Given the description of an element on the screen output the (x, y) to click on. 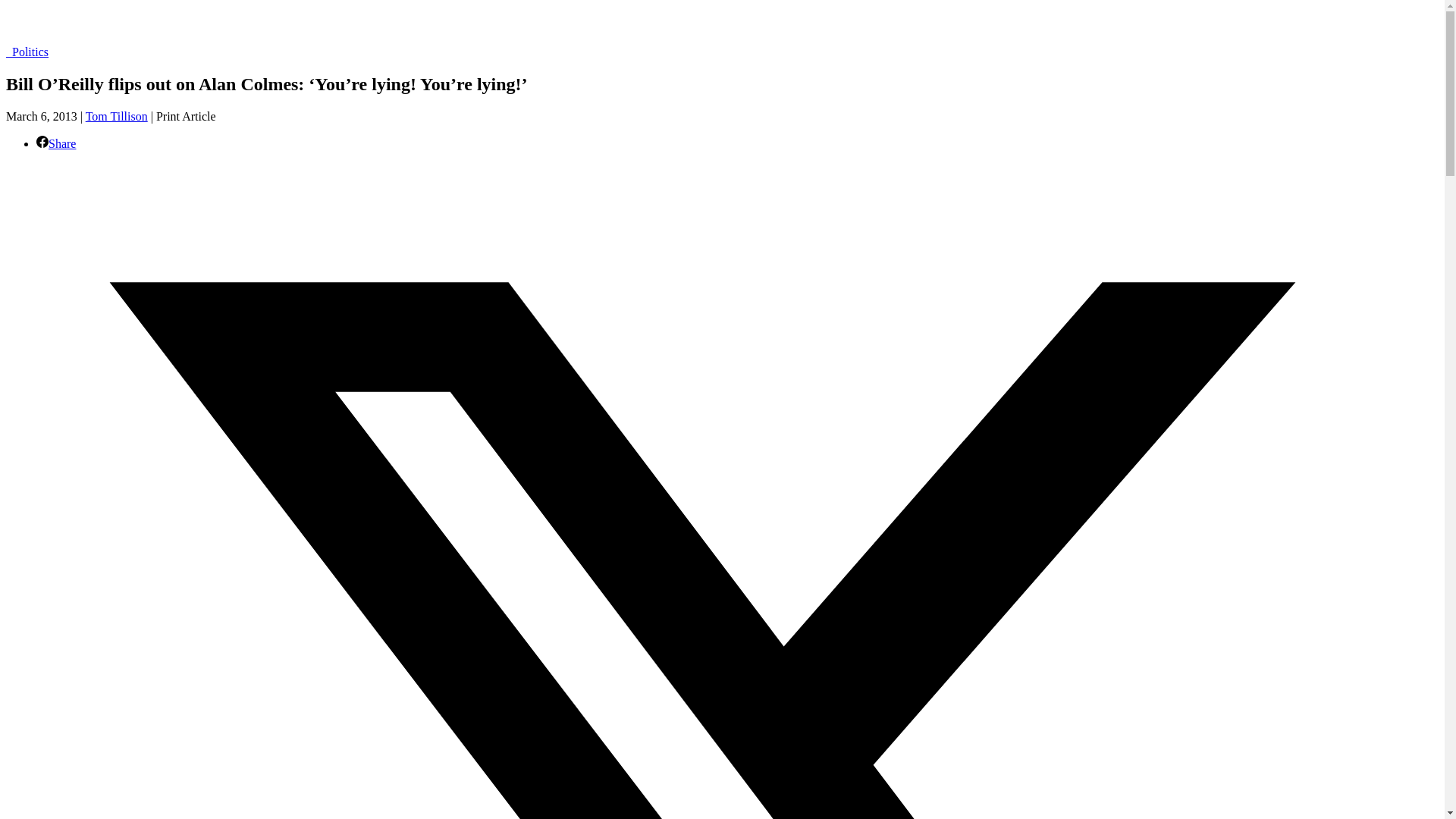
Posts by Tom Tillison (116, 115)
Print Article (185, 115)
  Politics (26, 51)
Tom Tillison (116, 115)
Share (55, 143)
Share on Share (55, 143)
